Given the description of an element on the screen output the (x, y) to click on. 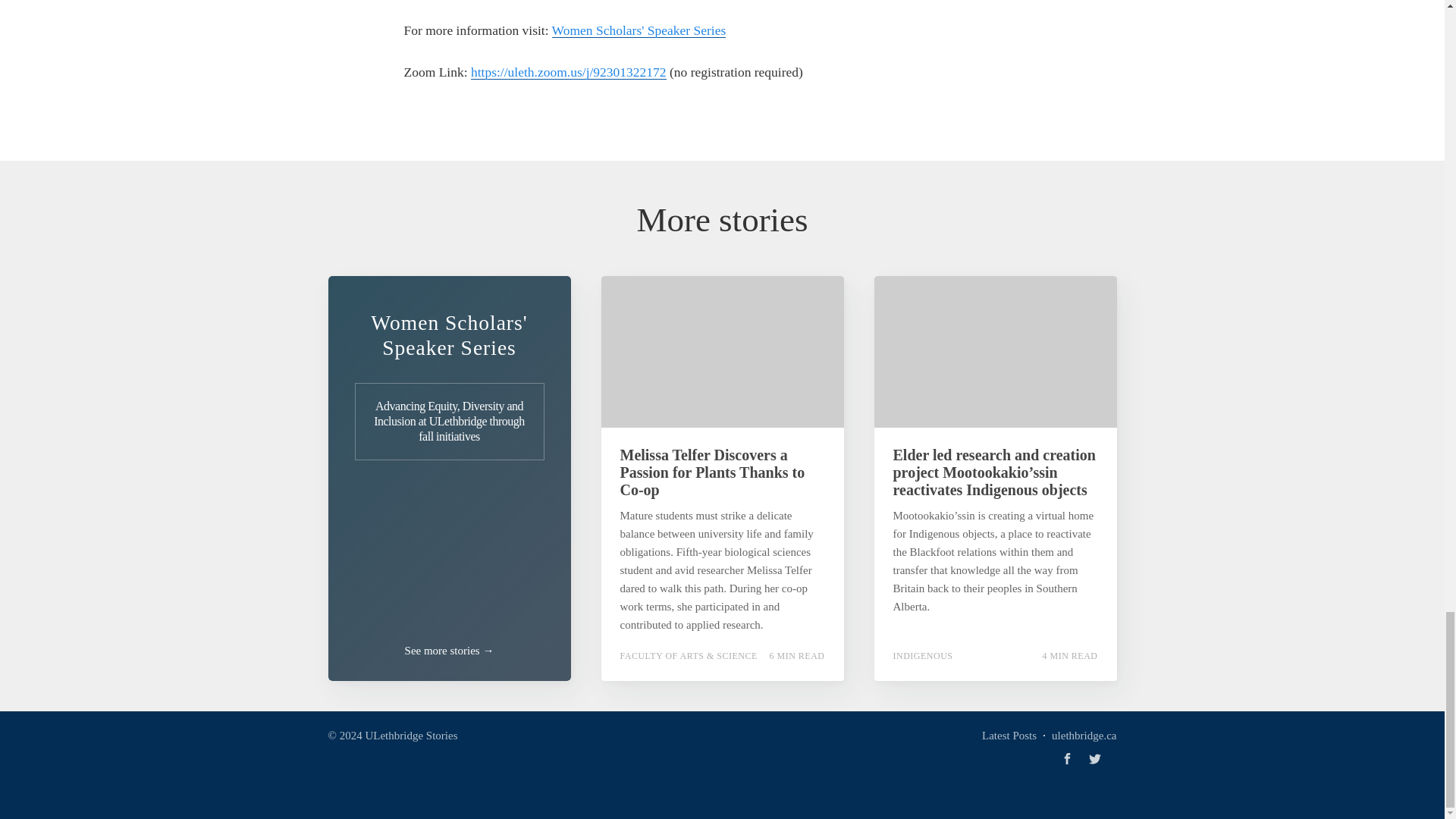
ulethbridge.ca (1083, 734)
Women Scholars' Speaker Series (449, 335)
Latest Posts (1008, 734)
Women Scholars' Speaker Series (638, 29)
ULethbridge Stories (411, 734)
